Given the description of an element on the screen output the (x, y) to click on. 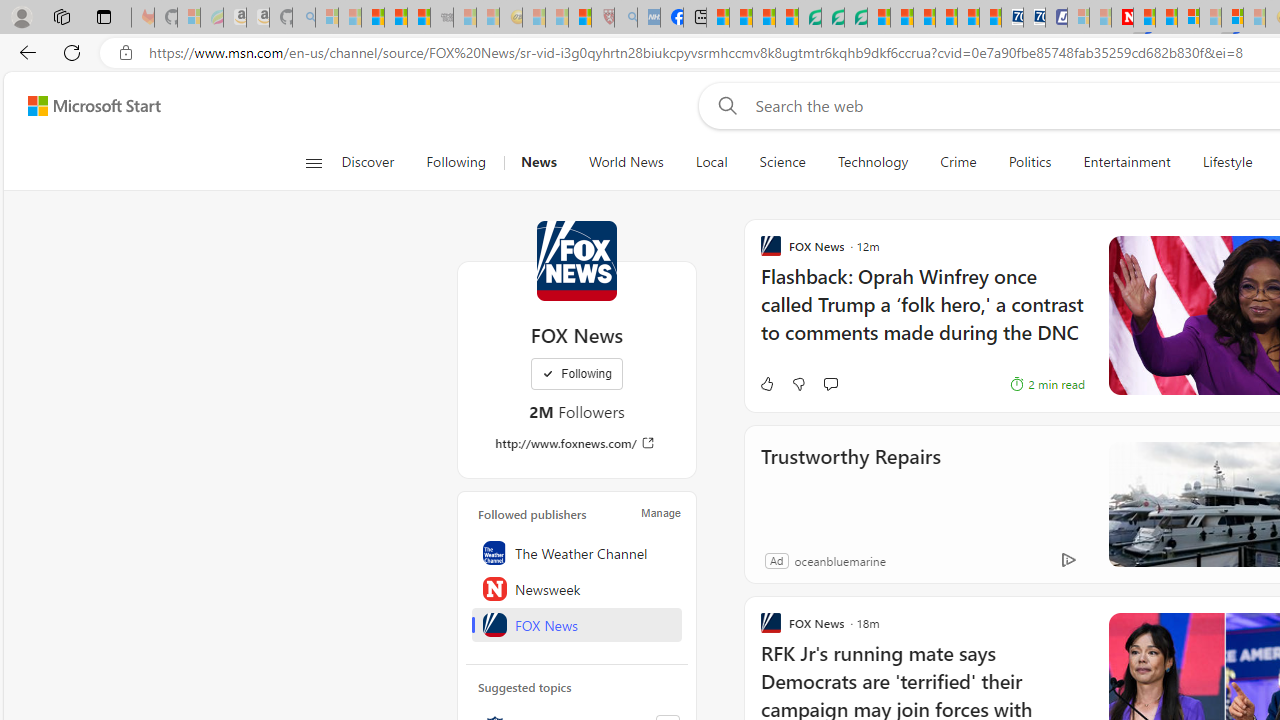
FOX News (577, 624)
The Weather Channel - MSN (372, 17)
